Given the description of an element on the screen output the (x, y) to click on. 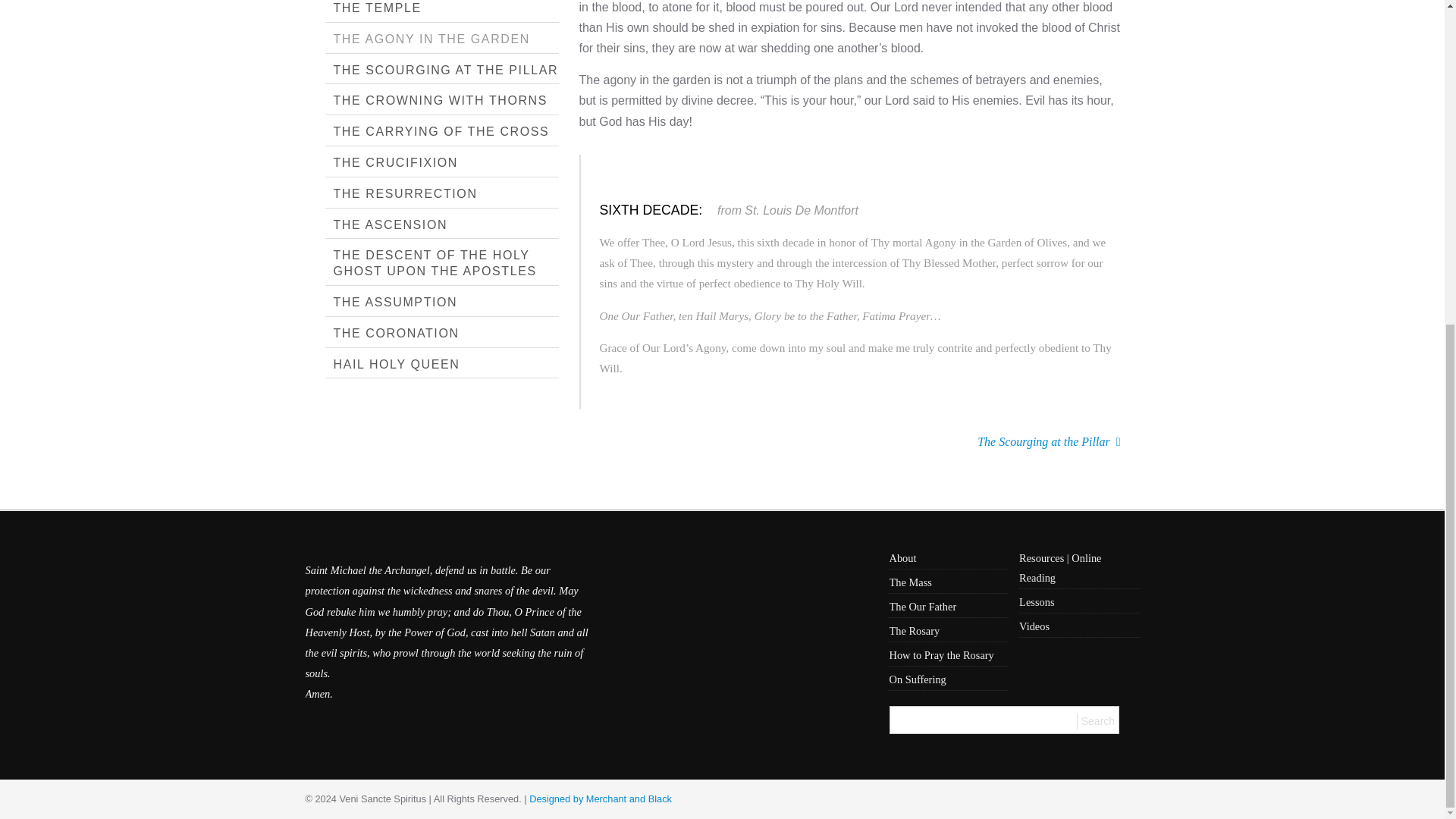
About (948, 558)
Search (1097, 720)
Search (1097, 720)
The Scourging at the Pillar (1047, 454)
THE FINDING OF OUR LORD IN THE TEMPLE (441, 11)
THE DESCENT OF THE HOLY GHOST UPON THE APOSTLES (441, 263)
The Our Father (948, 607)
THE CROWNING WITH THORNS (441, 101)
THE SCOURGING AT THE PILLAR (441, 71)
THE RESURRECTION (441, 194)
